Given the description of an element on the screen output the (x, y) to click on. 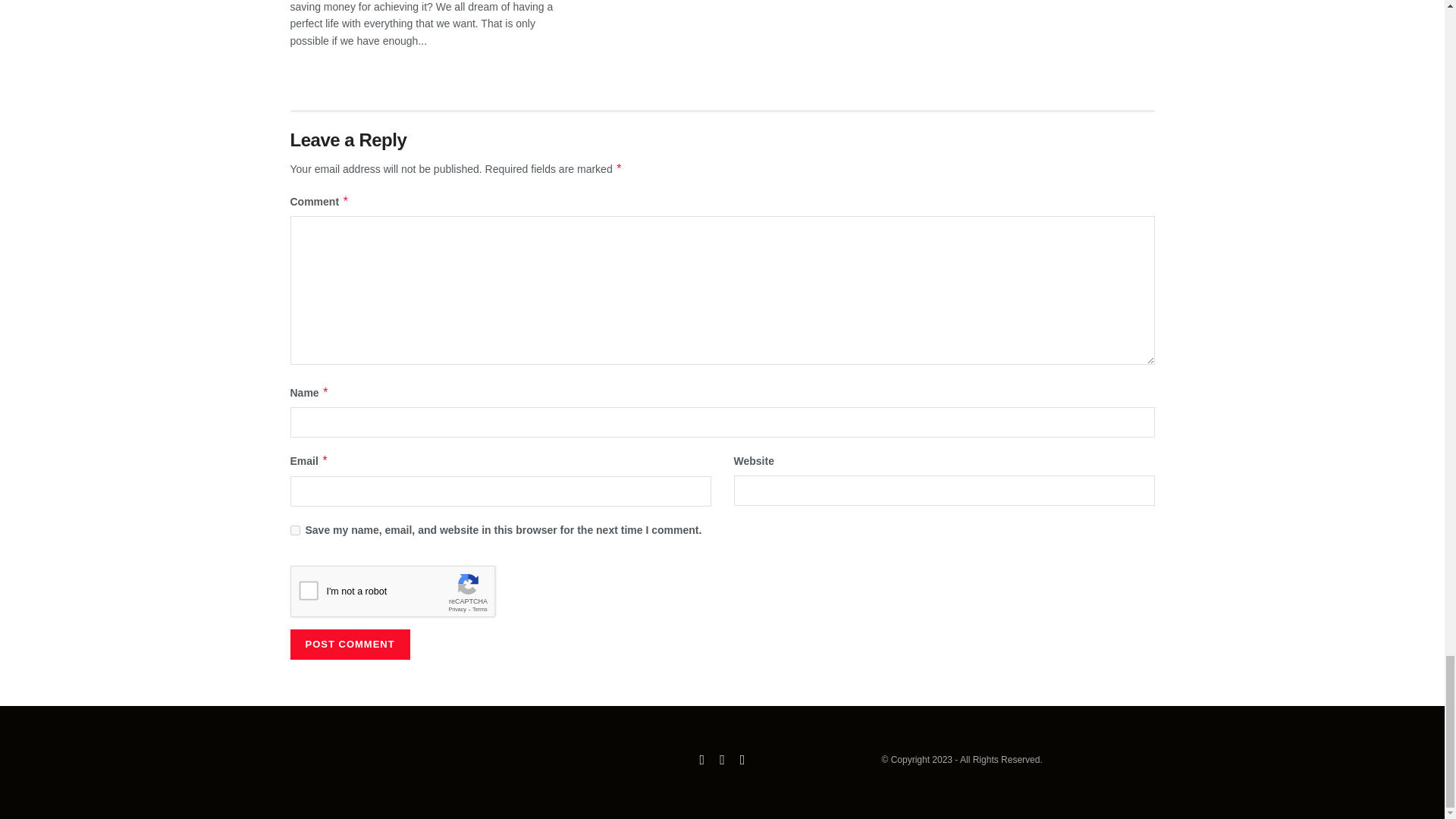
Post Comment (349, 644)
yes (294, 530)
reCAPTCHA (404, 594)
